Given the description of an element on the screen output the (x, y) to click on. 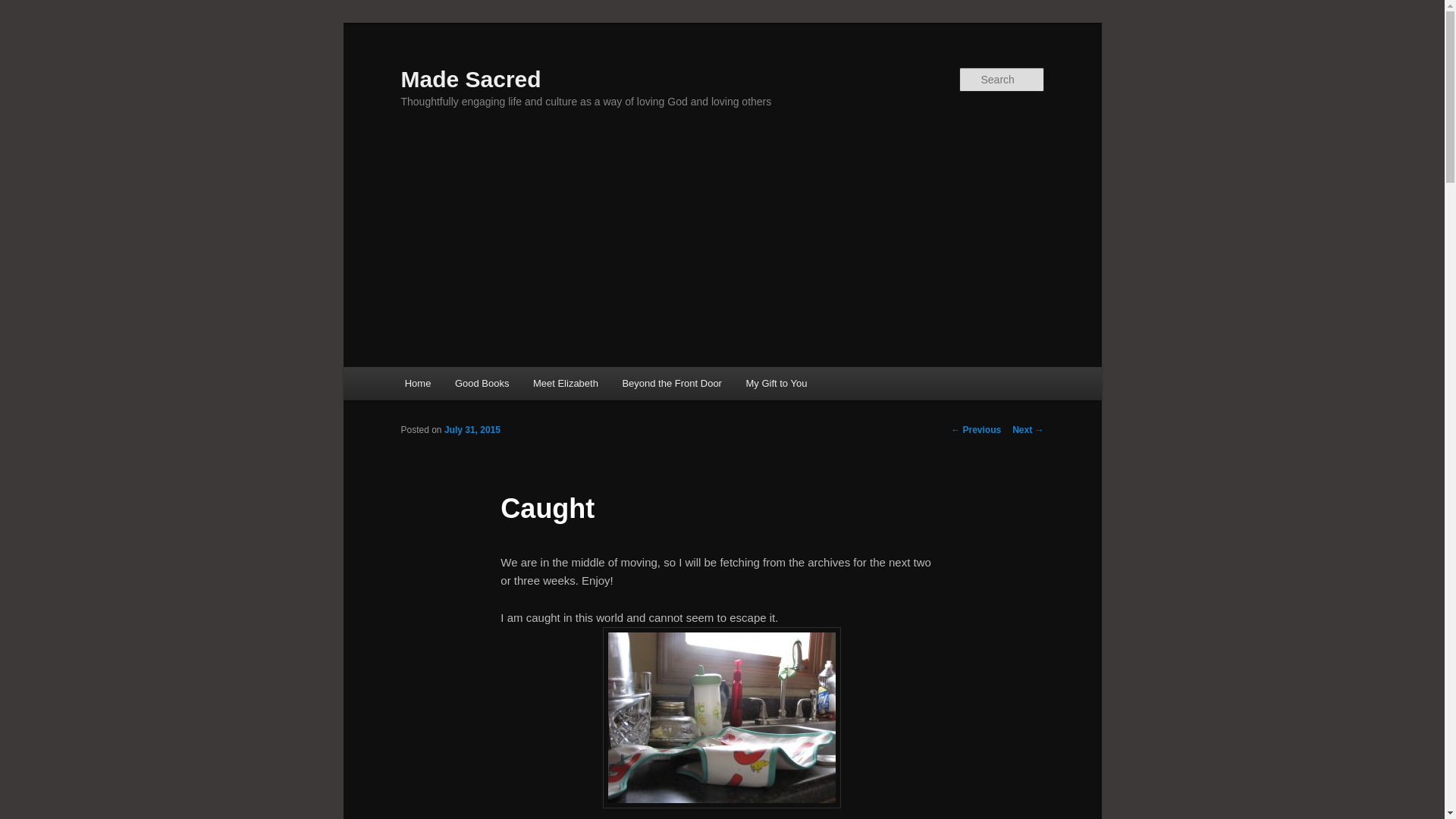
9:30 am (472, 429)
Kitchen (721, 717)
Beyond the Front Door (671, 382)
July 31, 2015 (472, 429)
My Gift to You (775, 382)
Good Books (481, 382)
Made Sacred (470, 78)
Meet Elizabeth (565, 382)
Home (417, 382)
Search (24, 8)
